Given the description of an element on the screen output the (x, y) to click on. 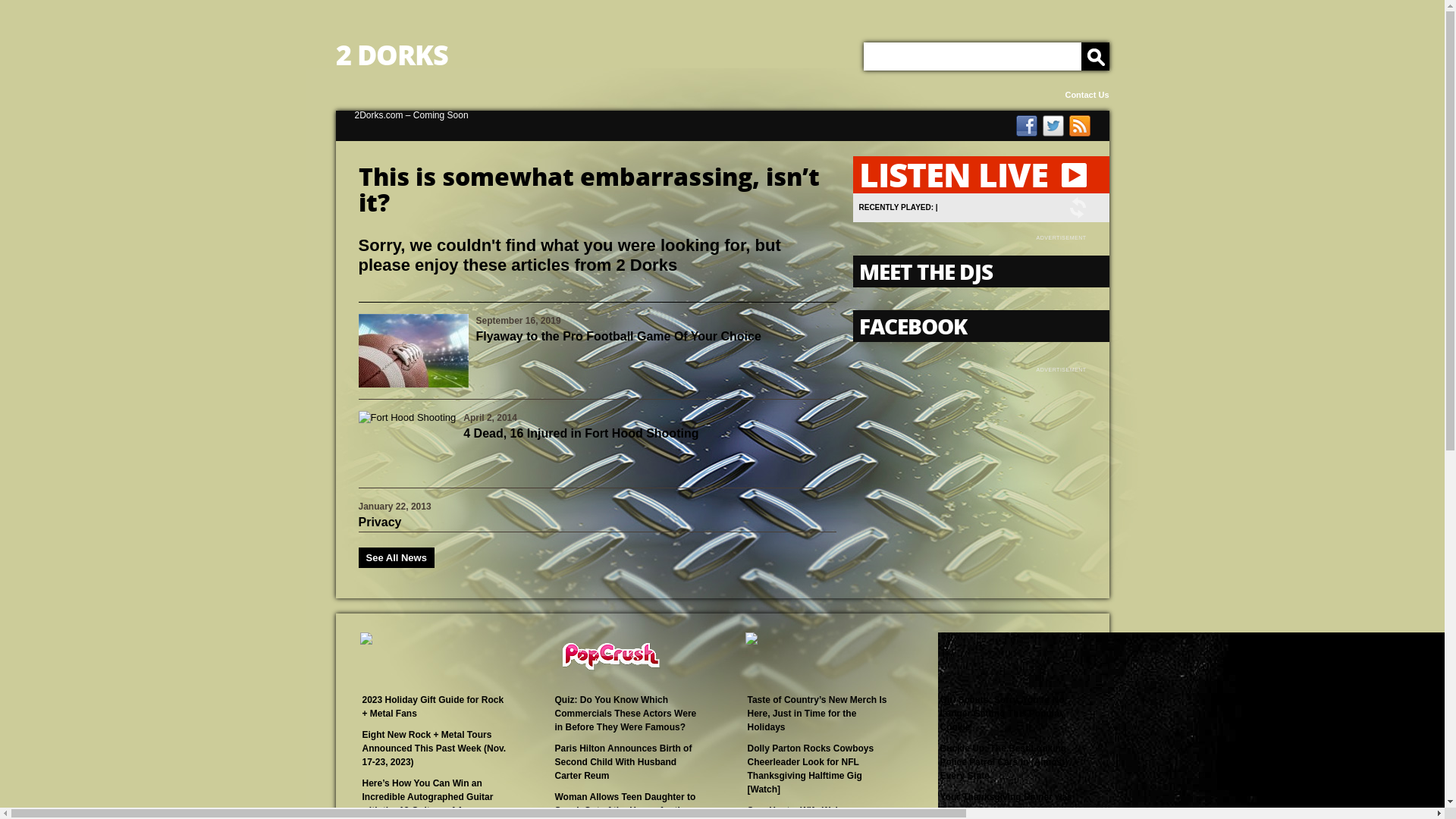
Visit us on Twitter Element type: hover (1052, 125)
Subscribe via RSS Element type: hover (1079, 125)
2 DORKS Element type: text (721, 55)
Flyaway to the Pro Football Game Of Your Choice Element type: text (618, 335)
4 Dead, 16 Injured in Fort Hood Shooting Element type: text (580, 432)
Contact Us Element type: text (1086, 95)
Click to view the latest song playing on air. Element type: hover (1077, 207)
See All News Element type: text (395, 557)
Visit us on Facebook Element type: hover (1026, 125)
LISTEN LIVE Element type: text (980, 174)
2023 Holiday Gift Guide for Rock + Metal Fans Element type: text (433, 706)
Privacy Element type: text (379, 521)
